Given the description of an element on the screen output the (x, y) to click on. 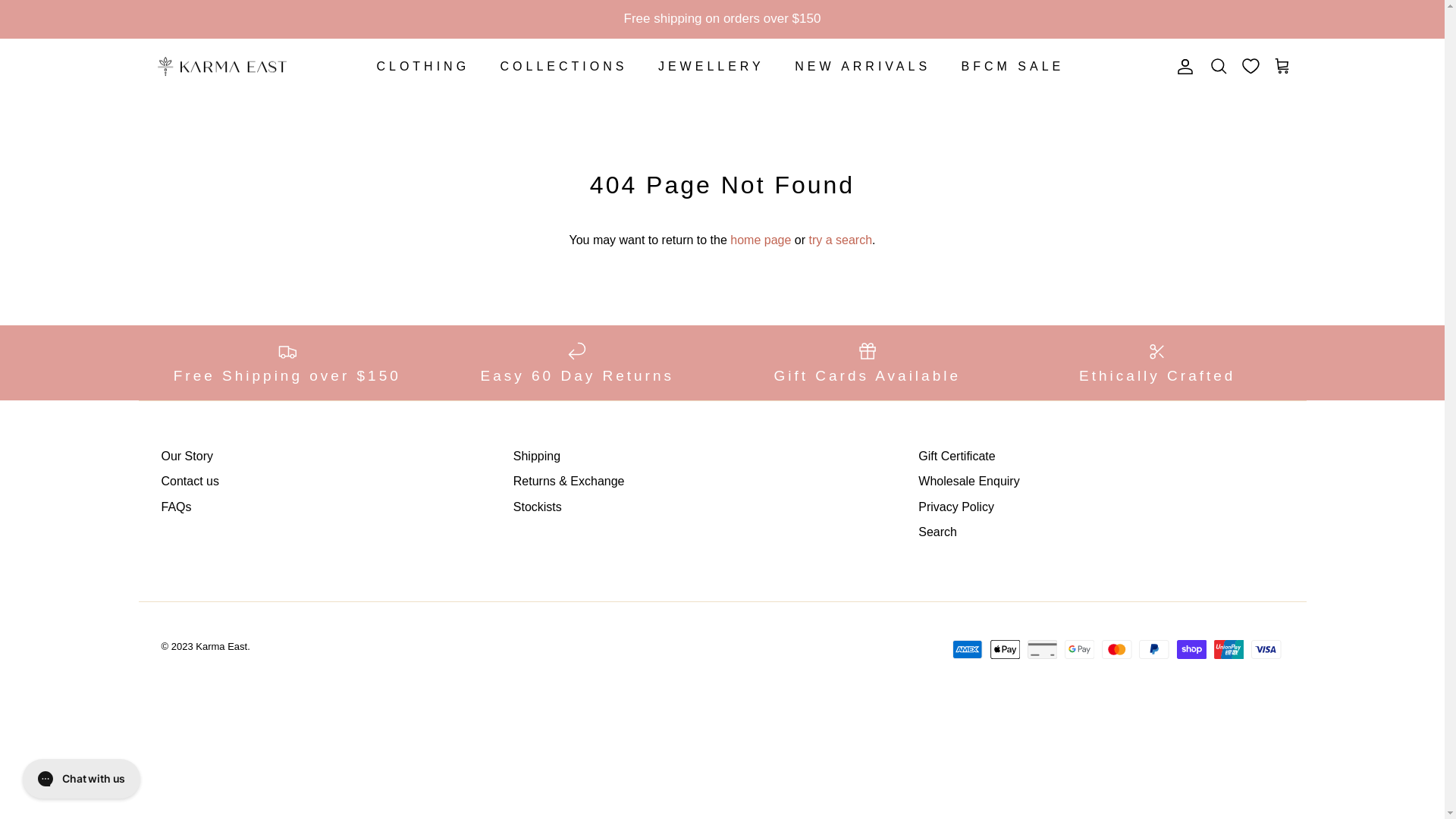
Returns & Exchange Element type: text (568, 480)
home page Element type: text (760, 239)
Contact us Element type: text (189, 480)
Gift Certificate Element type: text (956, 455)
Karma East Element type: hover (221, 66)
Account Element type: text (1182, 66)
JEWELLERY Element type: text (711, 66)
Wholesale Enquiry Element type: text (968, 480)
Gift Cards Available Element type: text (867, 362)
Karma East Element type: text (221, 646)
Gorgias live chat messenger Element type: hover (81, 778)
Easy 60 Day Returns Element type: text (577, 362)
Cart Element type: text (1282, 66)
Free Shipping over $150 Element type: text (286, 362)
try a search Element type: text (840, 239)
NEW ARRIVALS Element type: text (862, 66)
Our Story Element type: text (186, 455)
Stockists Element type: text (537, 506)
Privacy Policy Element type: text (956, 506)
Ethically Crafted Element type: text (1157, 362)
Search Element type: text (1218, 66)
COLLECTIONS Element type: text (563, 66)
BFCM SALE Element type: text (1012, 66)
Search Element type: text (937, 531)
CLOTHING Element type: text (422, 66)
Shipping Element type: text (536, 455)
FAQs Element type: text (175, 506)
